Given the description of an element on the screen output the (x, y) to click on. 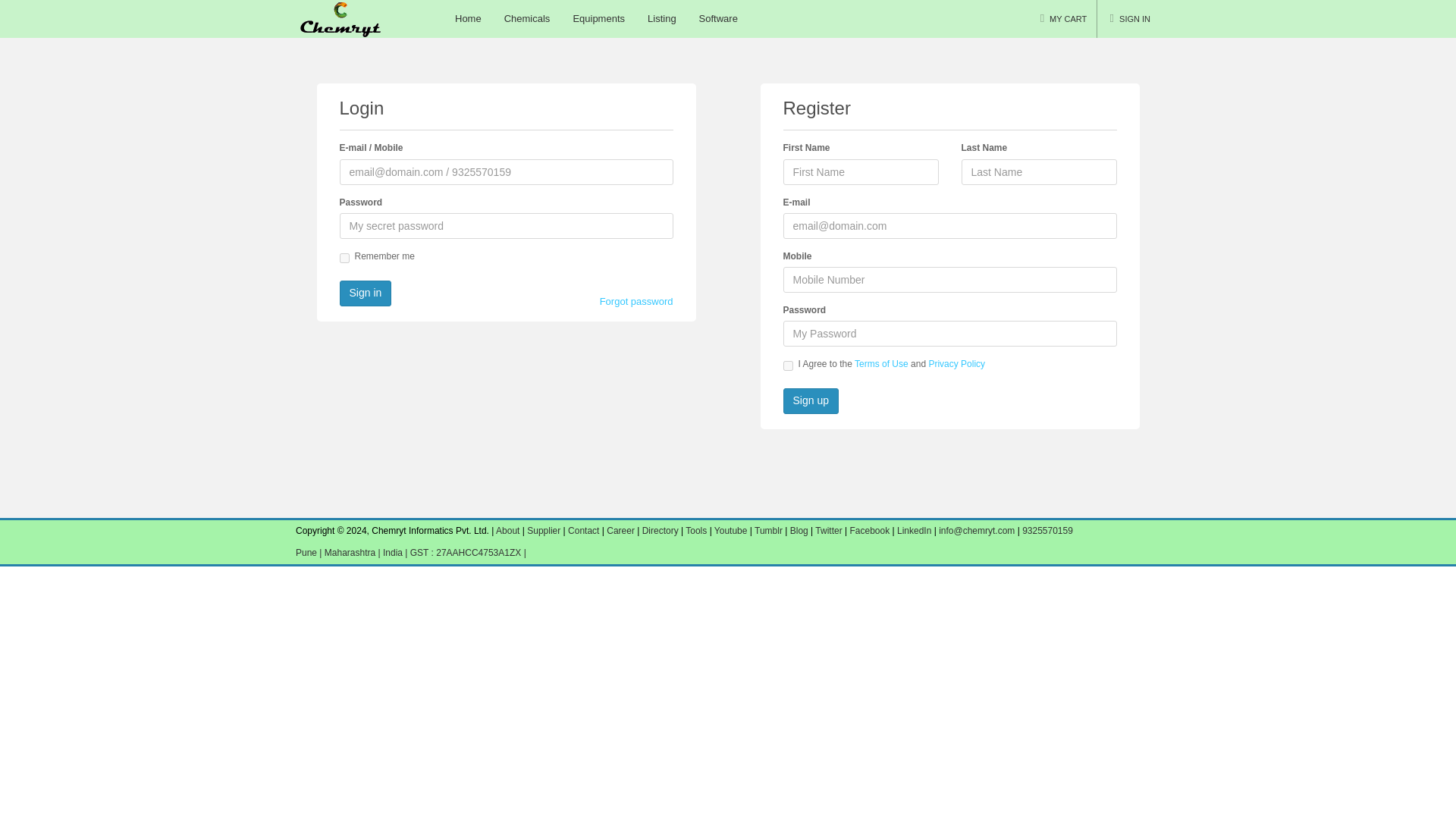
Sign up (810, 401)
Make In India (393, 552)
Maharashtra (351, 552)
Pune (306, 552)
Sign in (365, 293)
Equipments (598, 18)
Chemicals (527, 18)
Home (468, 18)
Chemryt Informatics (341, 18)
on (787, 366)
Twitter (828, 530)
LinkedIn (915, 530)
Facebook (868, 530)
on (344, 257)
